Given the description of an element on the screen output the (x, y) to click on. 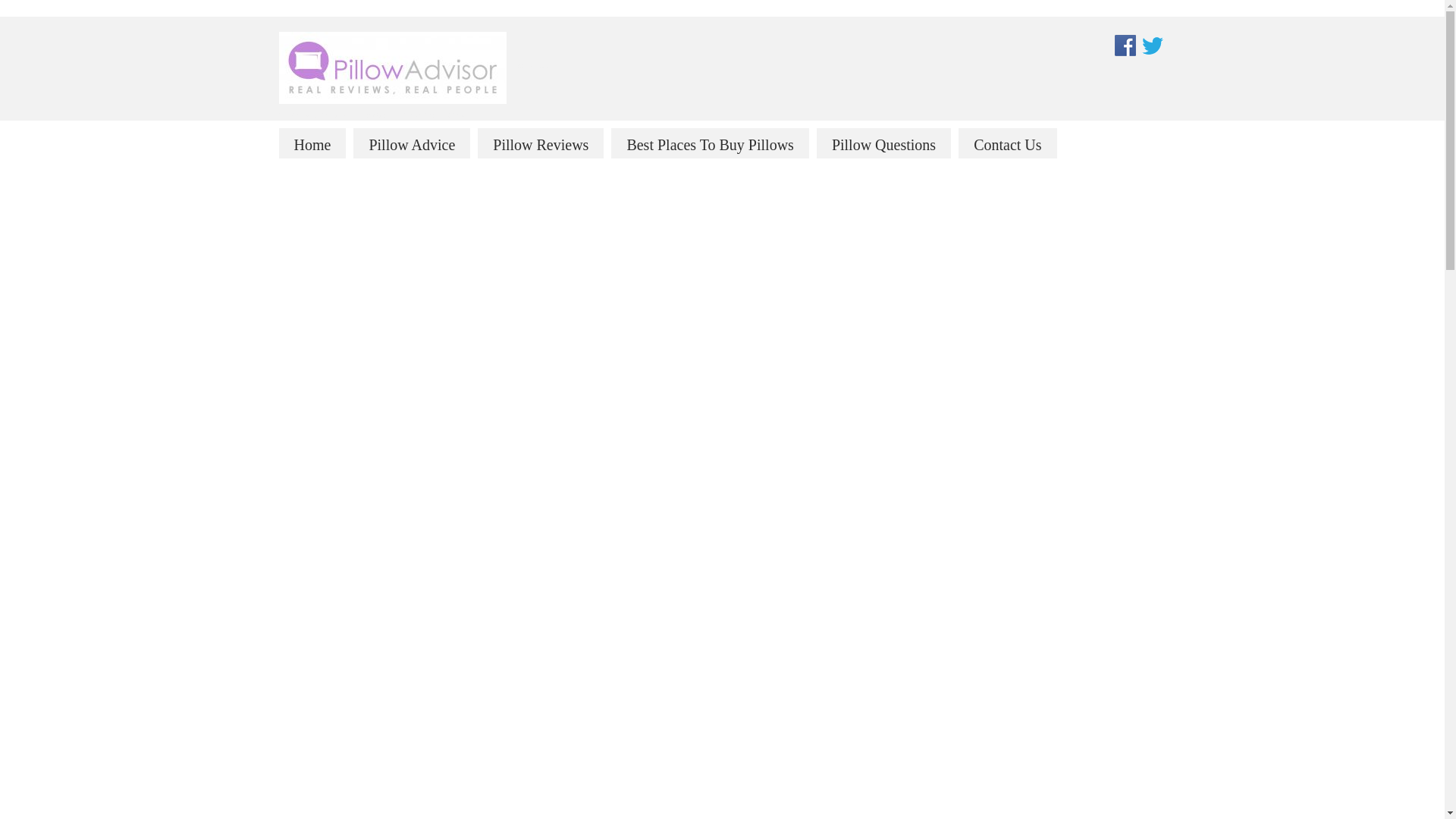
Pillow Advisor (392, 67)
Facebook (1125, 45)
Facebook (1125, 43)
Home page (312, 142)
Skip To Content (358, 136)
Pillow Reviews (540, 142)
Home (312, 142)
Contacts (1007, 142)
Pillow Advice (411, 142)
Twitter (1152, 43)
